Given the description of an element on the screen output the (x, y) to click on. 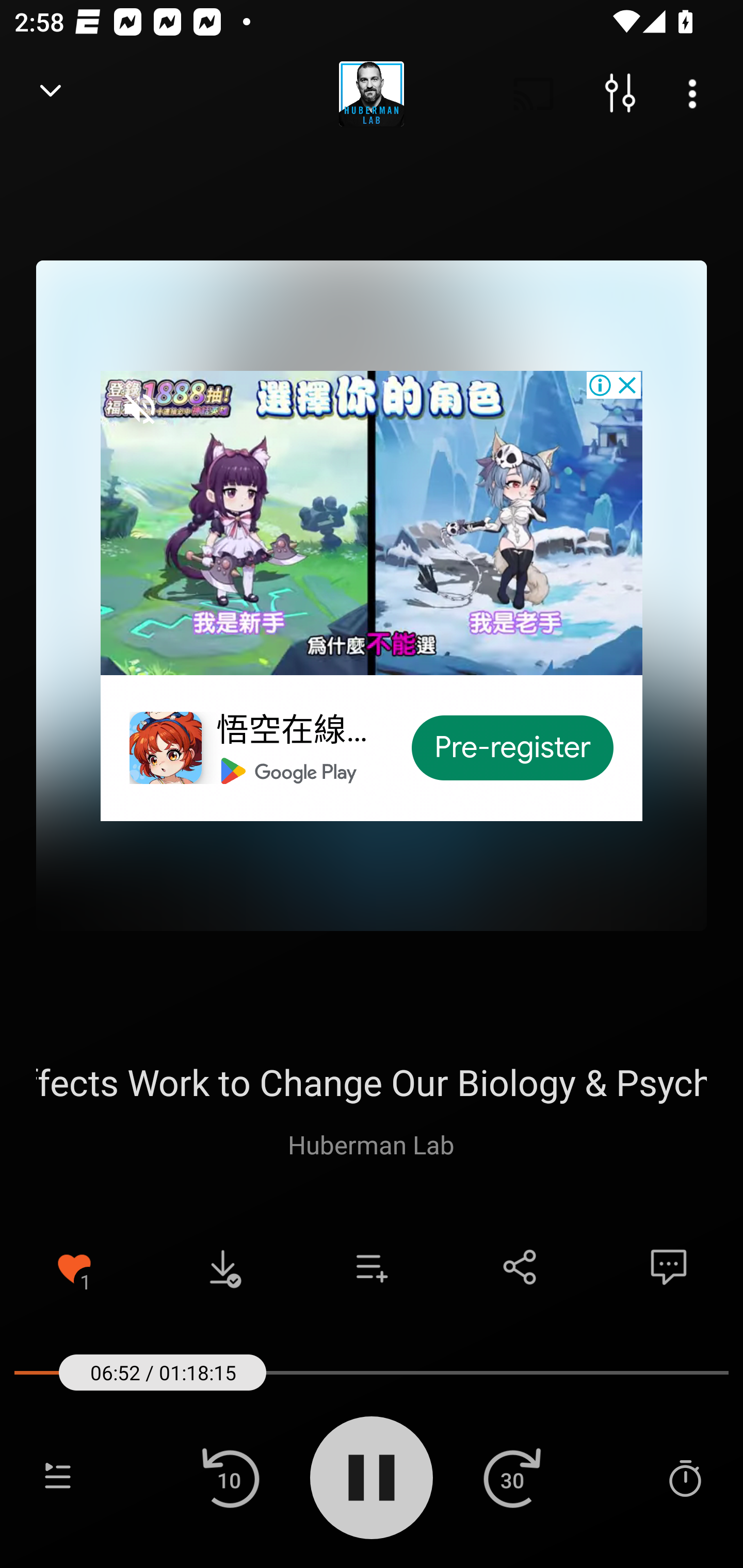
Cast. Disconnected (533, 93)
 Back (50, 94)
悟空在線… Pre-register Pre-register (371, 595)
Pre-register (512, 747)
Huberman Lab (370, 1144)
Comments (668, 1266)
Remove from Favorites (73, 1266)
Add to playlist (371, 1266)
Share (519, 1266)
 Playlist (57, 1477)
Sleep Timer  (684, 1477)
